Given the description of an element on the screen output the (x, y) to click on. 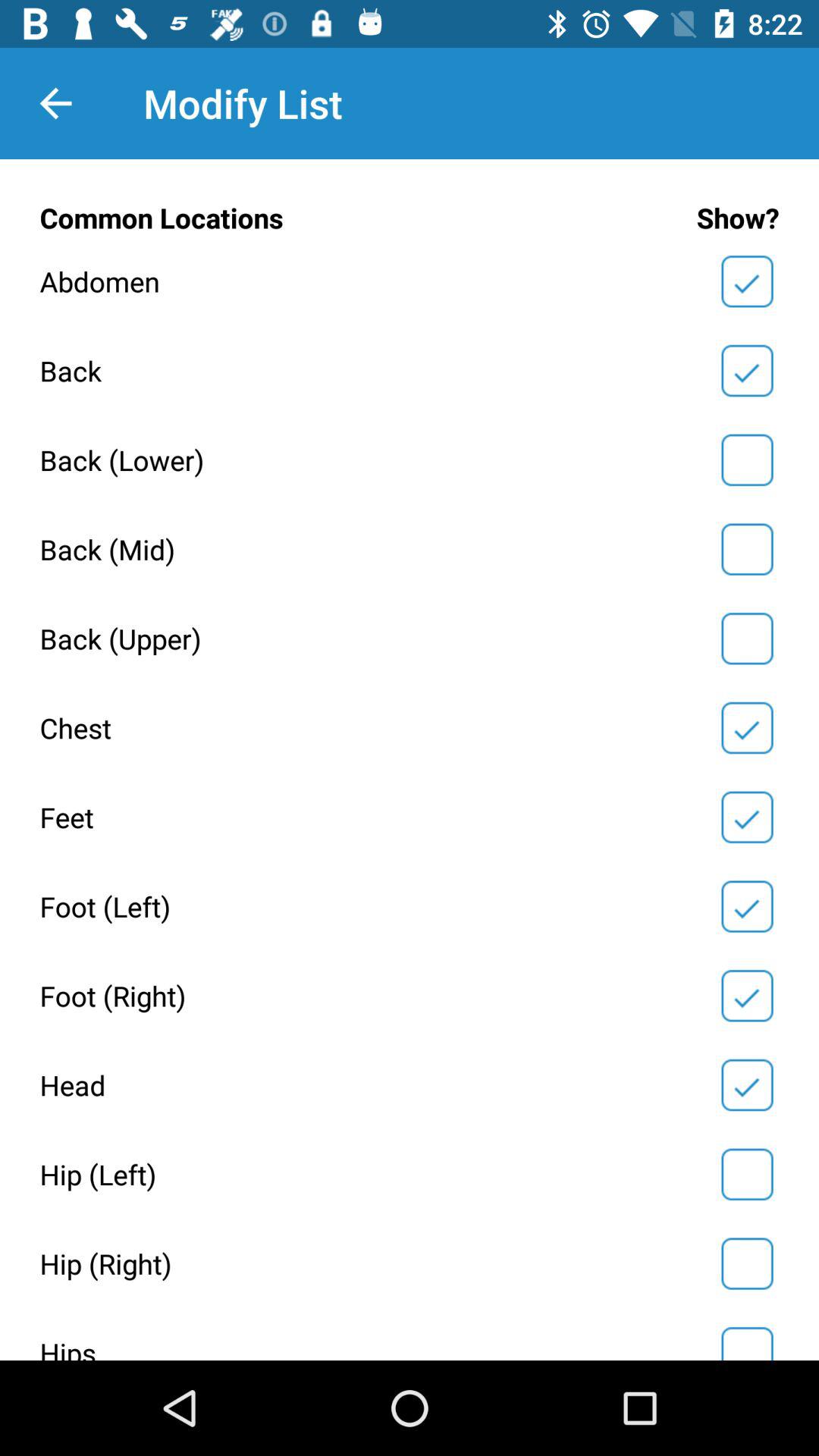
check mark box (747, 1340)
